Given the description of an element on the screen output the (x, y) to click on. 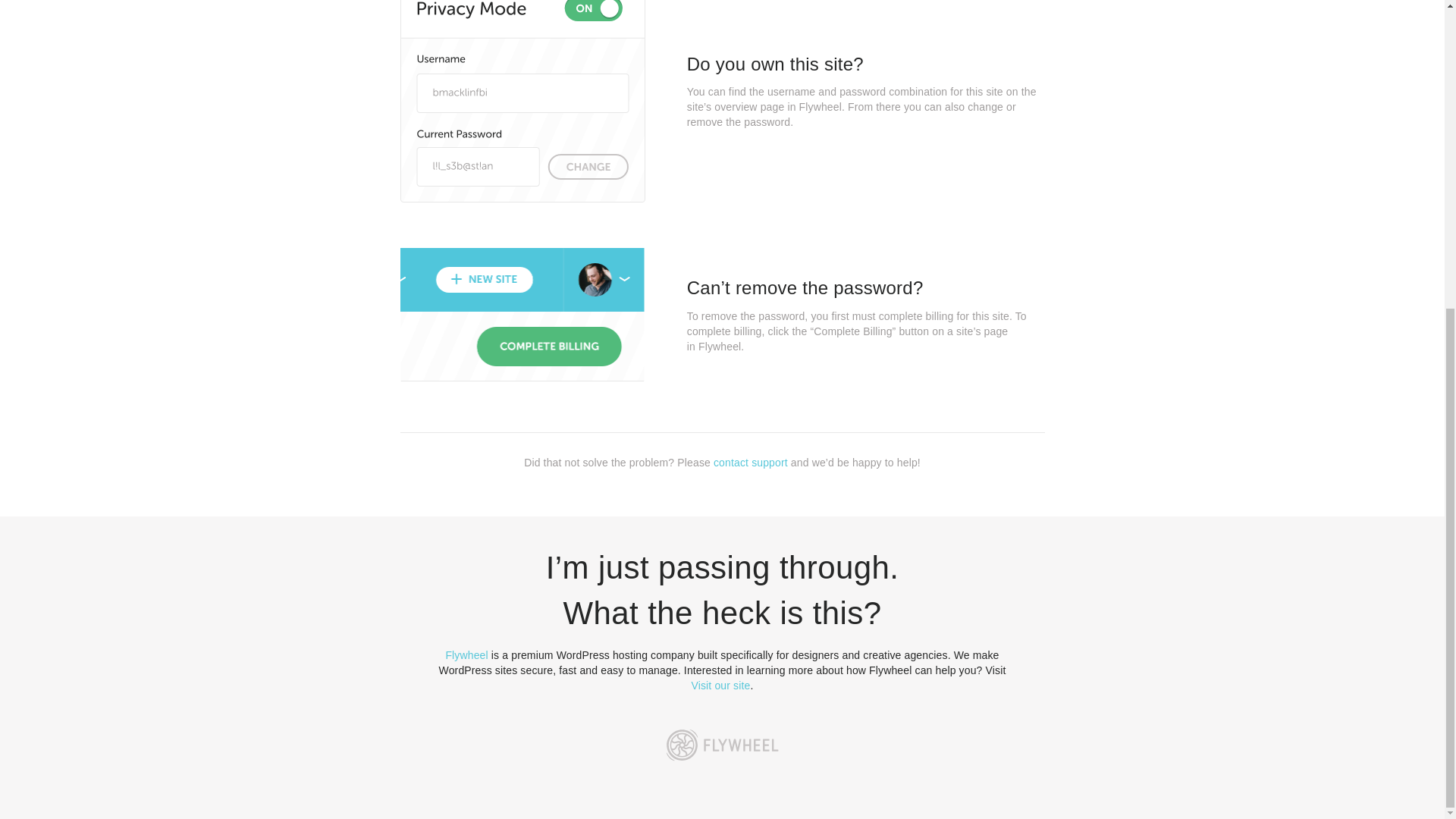
contact support (750, 462)
Visit our site (721, 685)
Flywheel (466, 654)
